Given the description of an element on the screen output the (x, y) to click on. 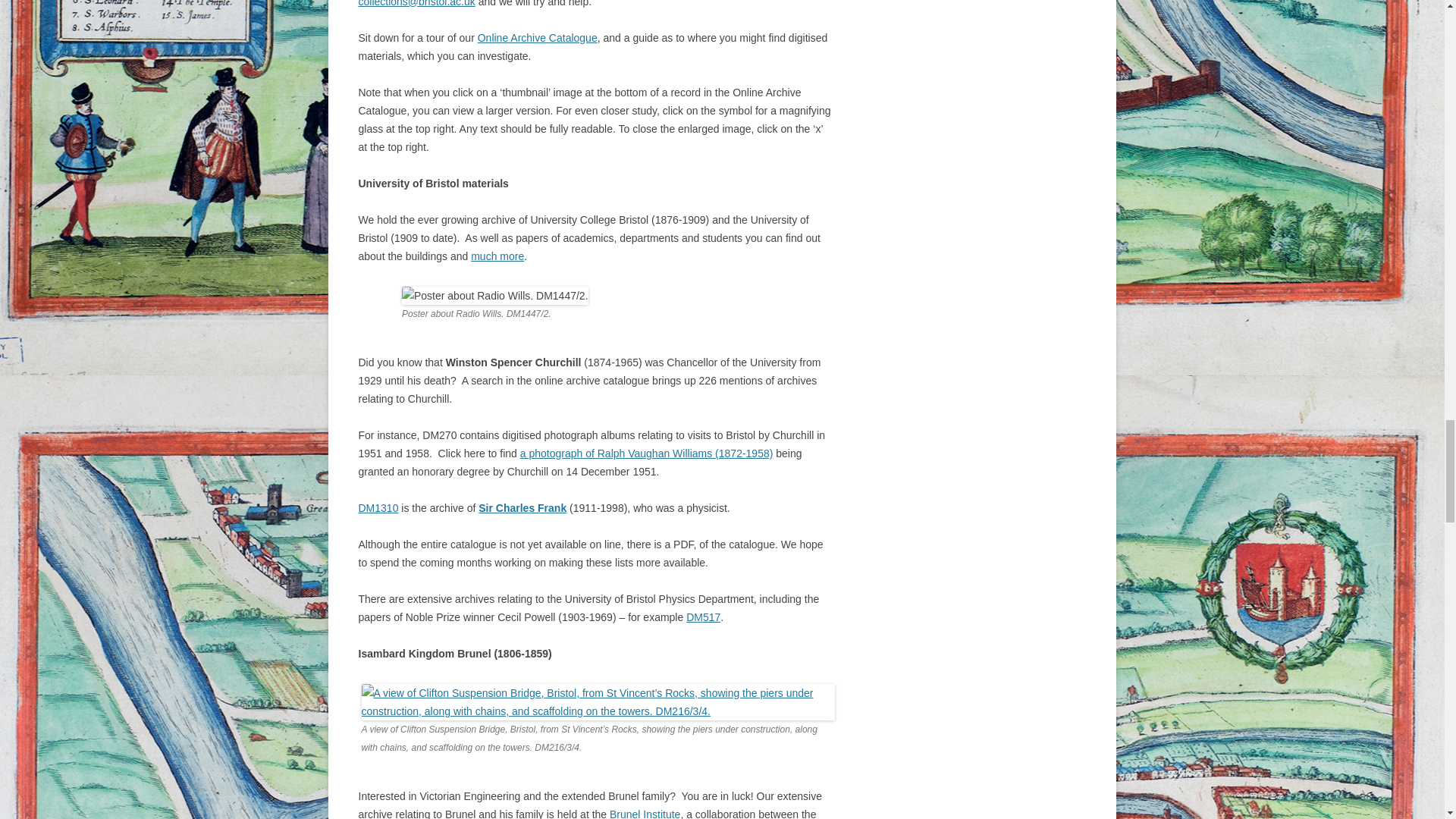
DM1310 (377, 508)
Sir Charles Frank (522, 508)
much more (497, 256)
Brunel Institute (644, 813)
Online Archive Catalogue (536, 37)
DM517 (702, 616)
